Given the description of an element on the screen output the (x, y) to click on. 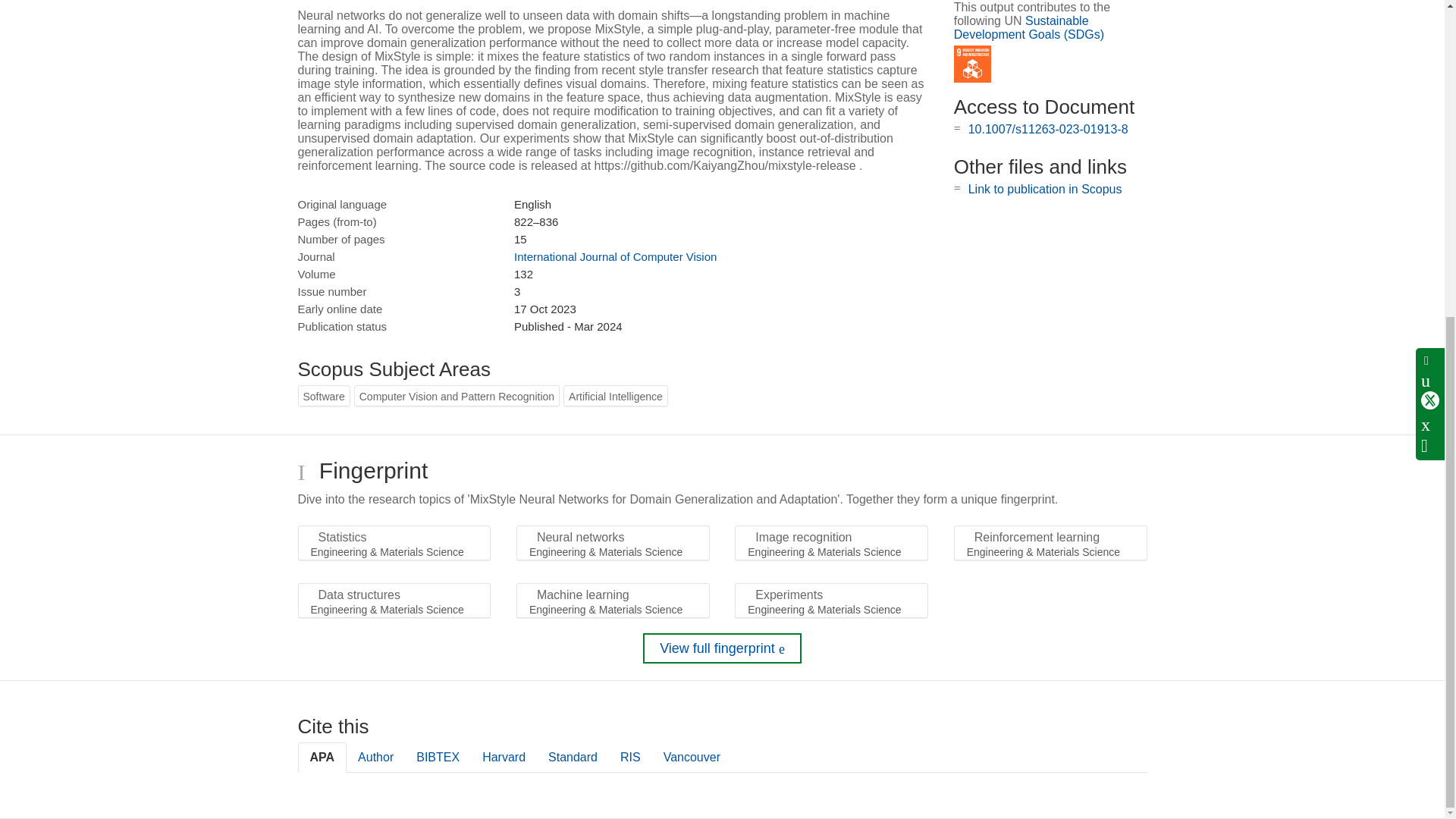
International Journal of Computer Vision (614, 256)
View full fingerprint (722, 648)
Link to publication in Scopus (1045, 188)
SDG 9 - Industry, Innovation, and Infrastructure (972, 63)
